Given the description of an element on the screen output the (x, y) to click on. 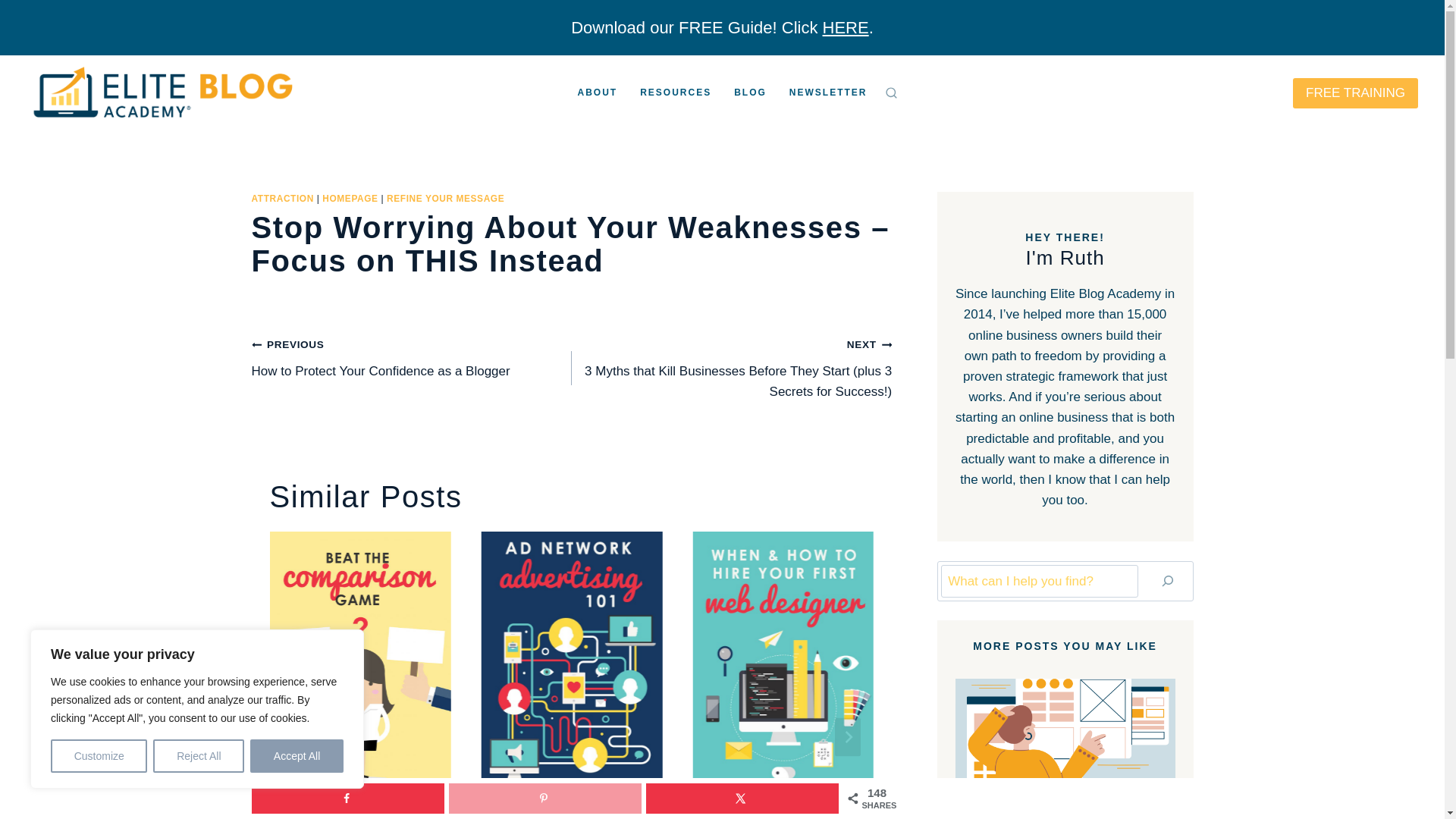
FREE TRAINING (1355, 92)
HERE (845, 27)
HOMEPAGE (349, 198)
Share on X (742, 798)
REFINE YOUR MESSAGE (445, 198)
NEWSLETTER (828, 93)
Reject All (411, 357)
Save to Pinterest (198, 756)
Accept All (545, 798)
Customize (296, 756)
Share on Facebook (98, 756)
RESOURCES (347, 798)
ABOUT (675, 93)
BLOG (597, 93)
